Given the description of an element on the screen output the (x, y) to click on. 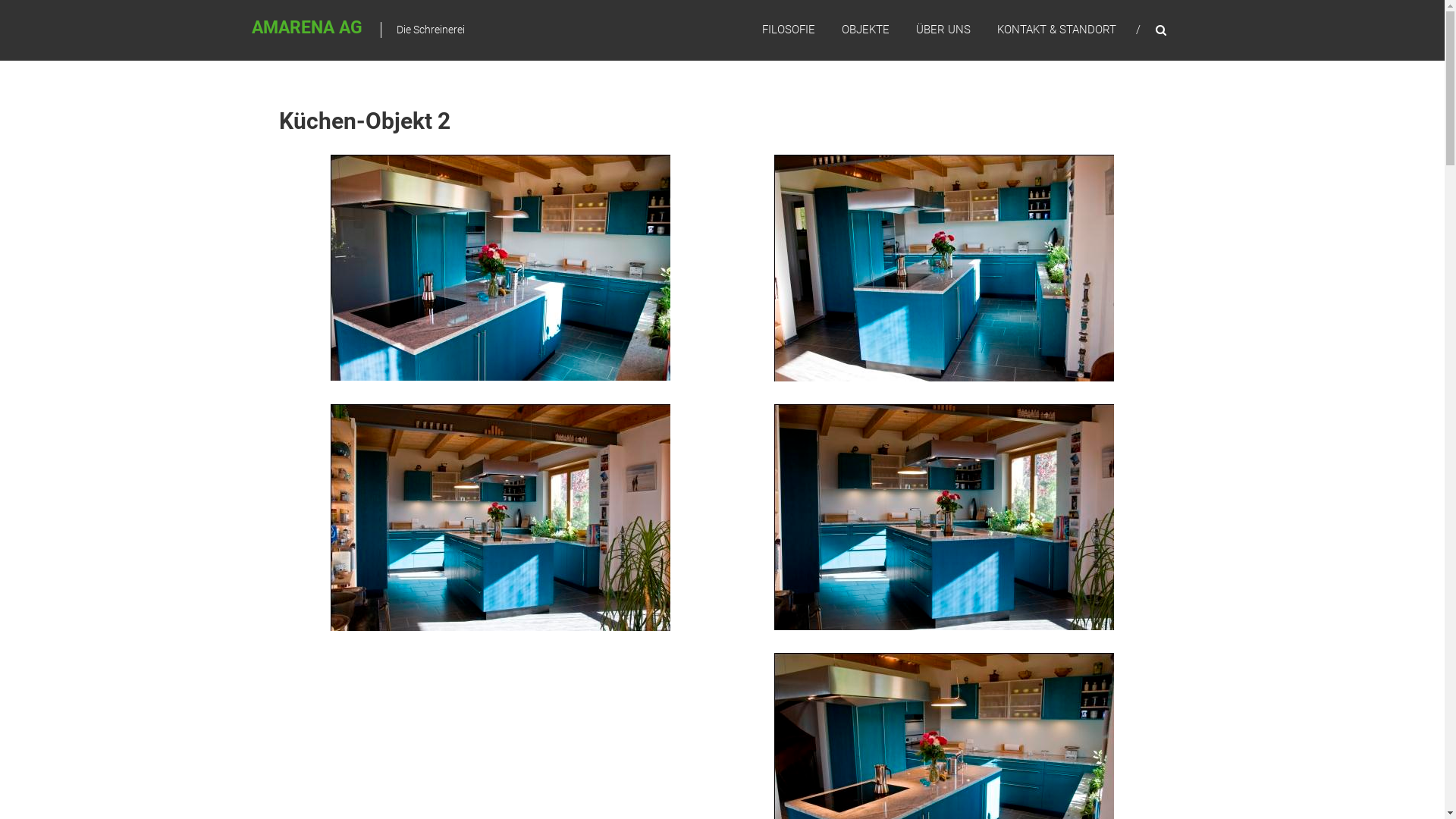
AMARENA AG Element type: text (306, 27)
Suche Element type: text (1231, 409)
FILOSOFIE Element type: text (787, 29)
KONTAKT & STANDORT Element type: text (1055, 29)
OBJEKTE Element type: text (865, 29)
